Given the description of an element on the screen output the (x, y) to click on. 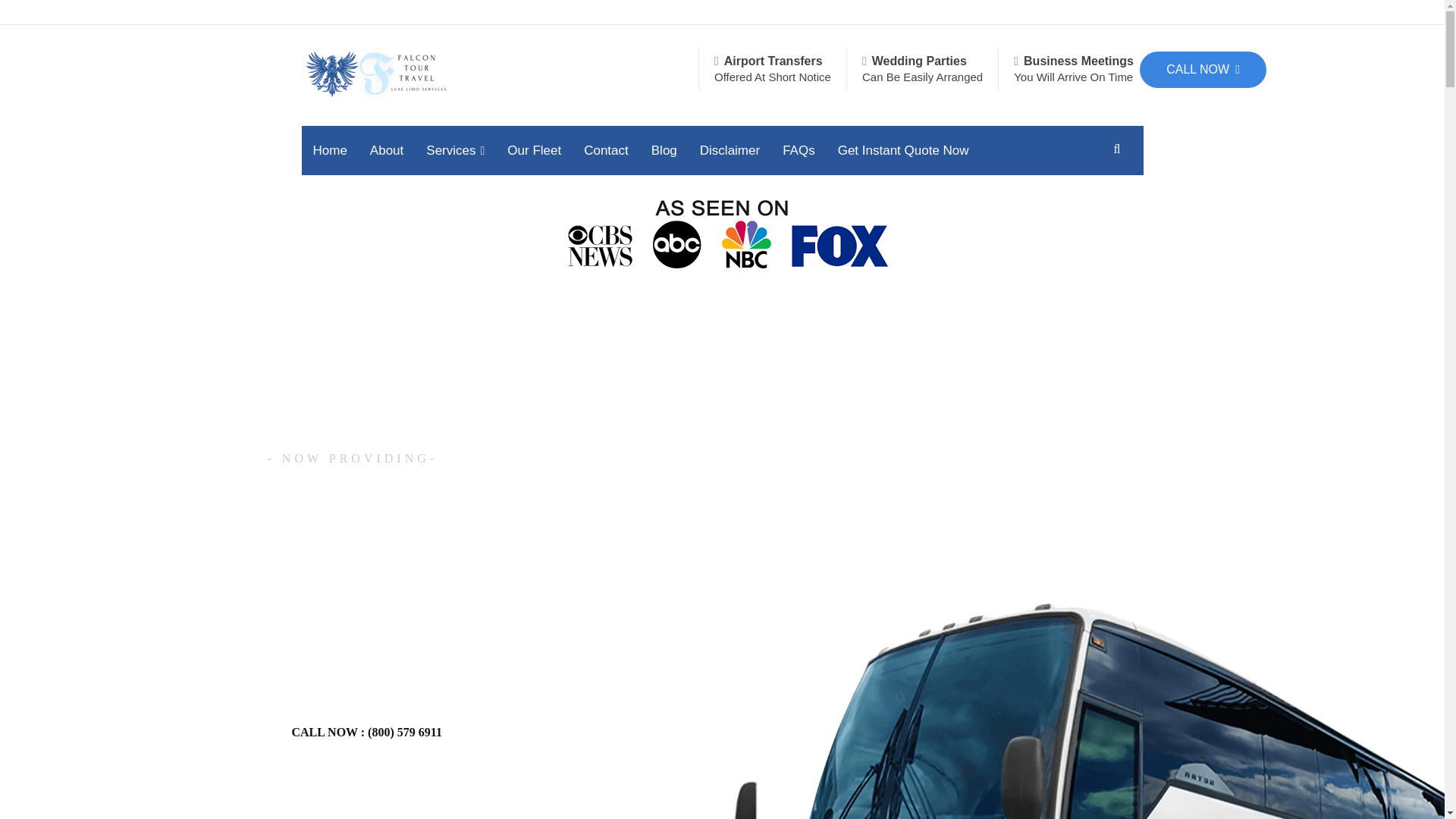
Our Fleet (534, 150)
CALL NOW (1203, 69)
Disclaimer (729, 150)
NBC Falcon Tour Travel (722, 235)
About (386, 150)
FAQs (799, 150)
CONTACT US (552, 732)
Get Instant Quote Now (903, 150)
Home (329, 150)
Contact (606, 150)
